Given the description of an element on the screen output the (x, y) to click on. 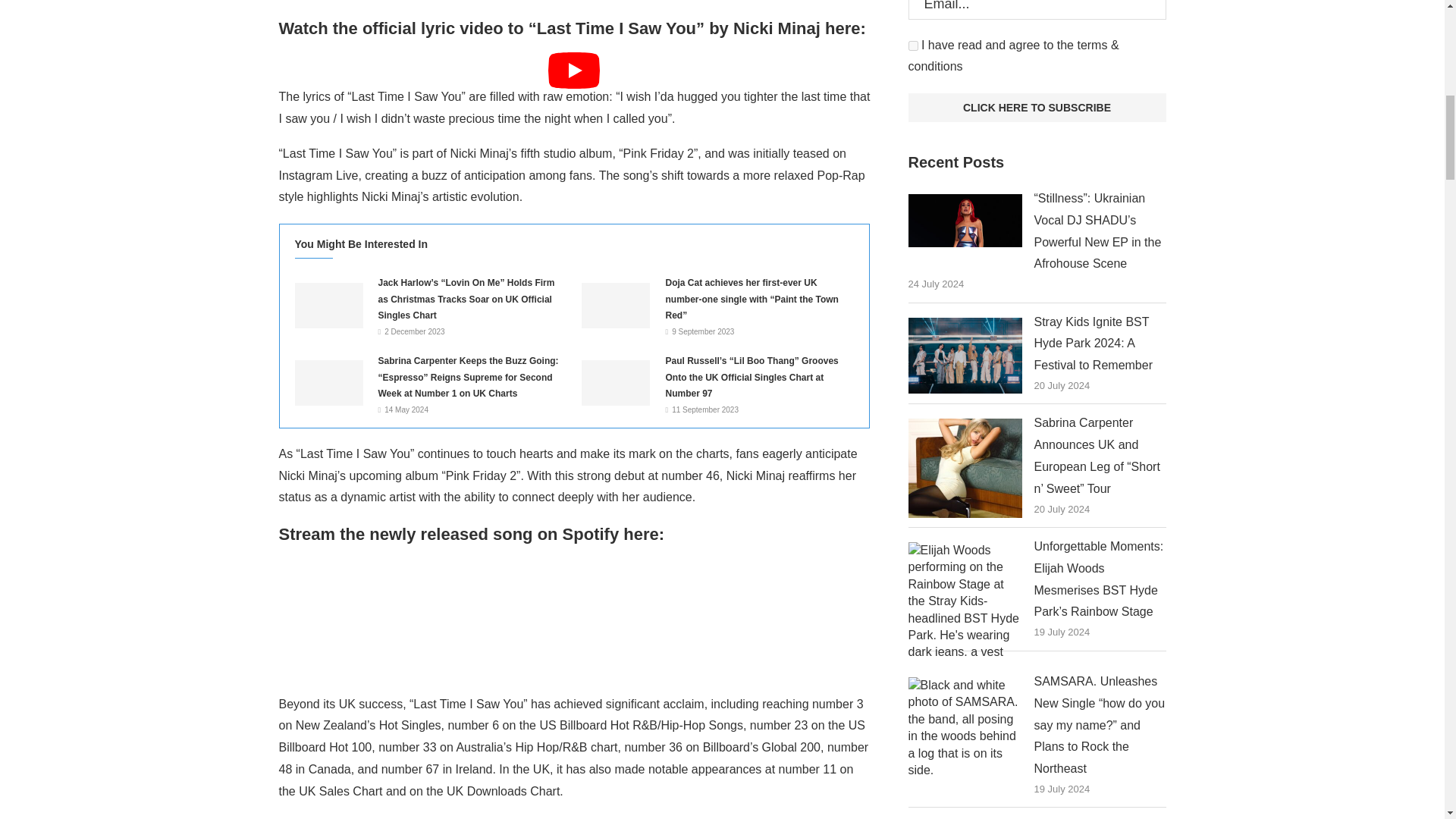
Click here to subscribe (1037, 107)
1 (913, 45)
Spotify Embed: Last Time I Saw You (574, 616)
